Given the description of an element on the screen output the (x, y) to click on. 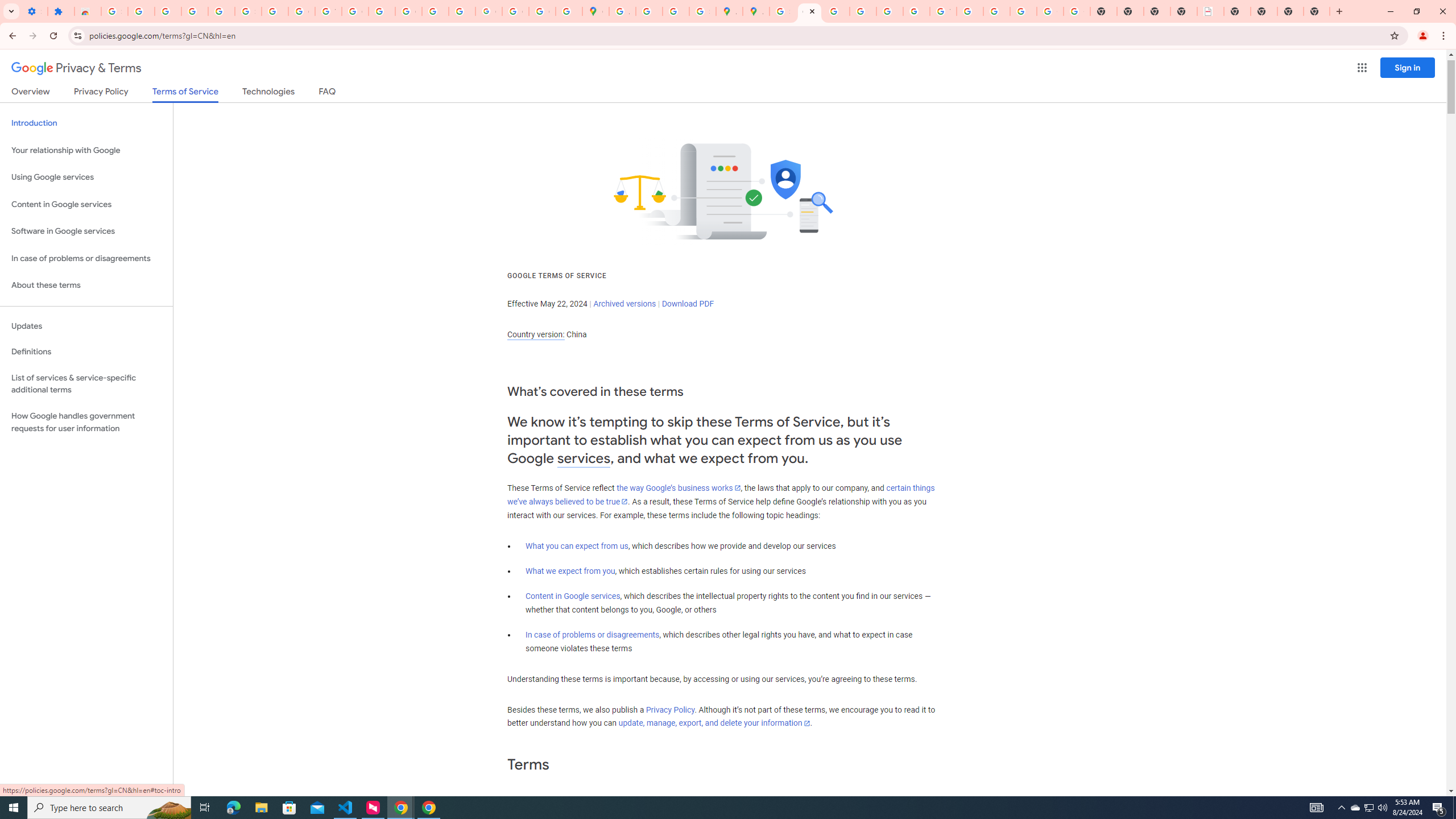
update, manage, export, and delete your information (714, 723)
Privacy Help Center - Policies Help (836, 11)
Using Google services (86, 176)
Definitions (86, 352)
Country version: (535, 334)
